Given the description of an element on the screen output the (x, y) to click on. 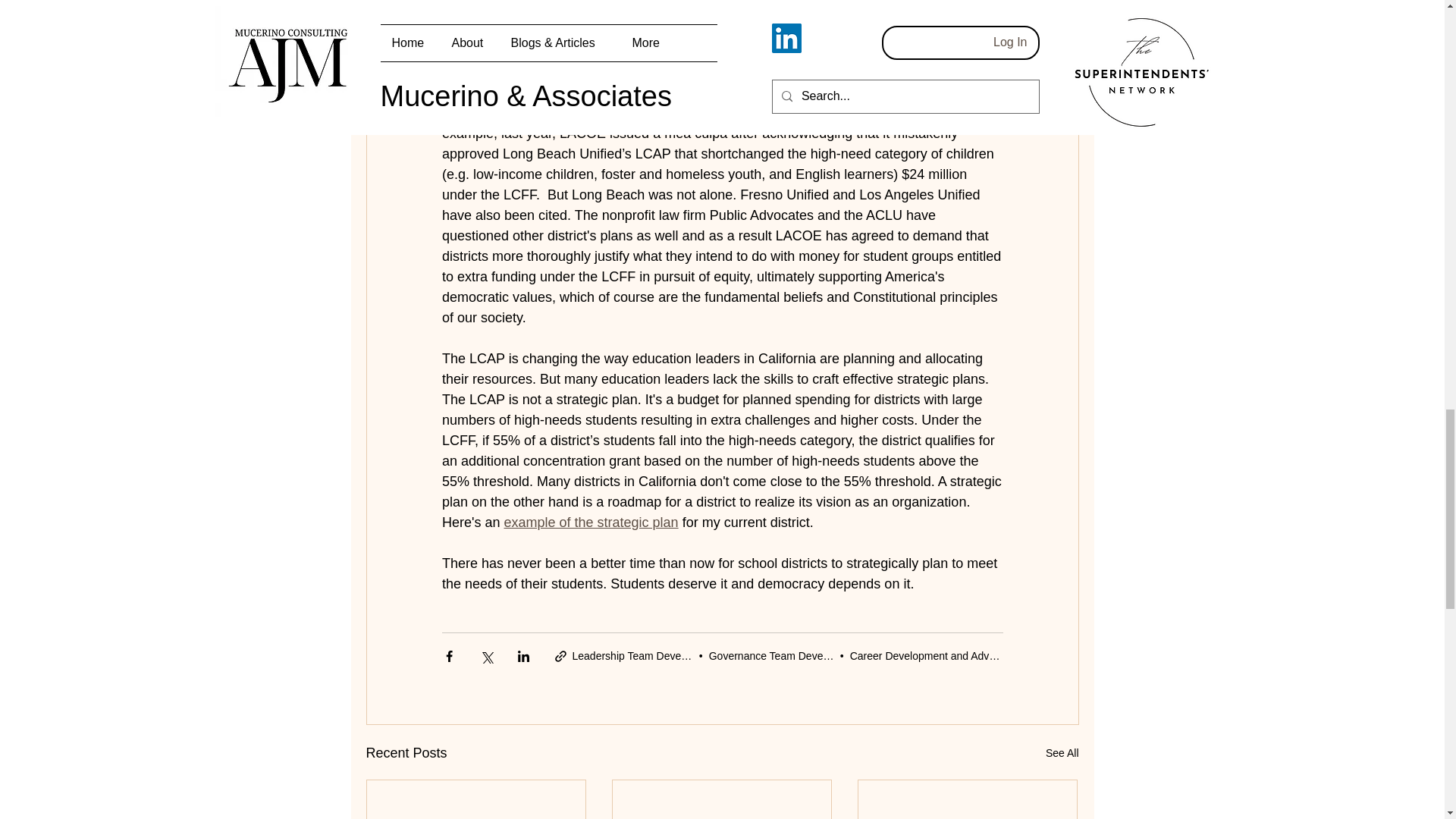
example of the strategic plan (590, 522)
See All (1061, 753)
Career Development and Advancement (942, 655)
Governance Team Development (785, 655)
Leadership Team Development (645, 655)
